Given the description of an element on the screen output the (x, y) to click on. 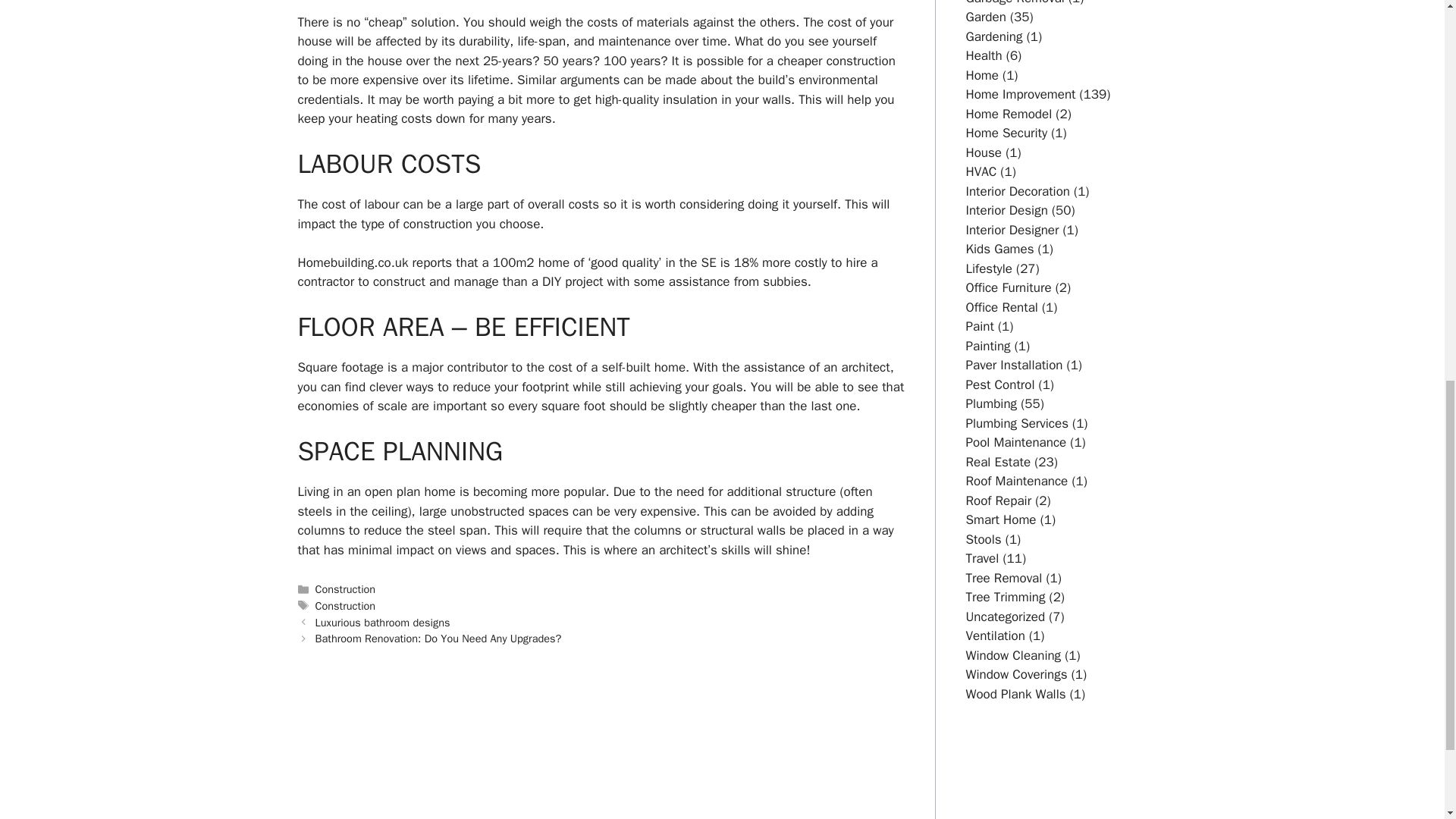
Bathroom Renovation: Do You Need Any Upgrades? (438, 638)
Construction (345, 605)
Home (982, 75)
Construction (345, 589)
Garden (986, 17)
Luxurious bathroom designs (382, 622)
Garbage Removal (1015, 2)
Health (984, 55)
Gardening (994, 36)
